Given the description of an element on the screen output the (x, y) to click on. 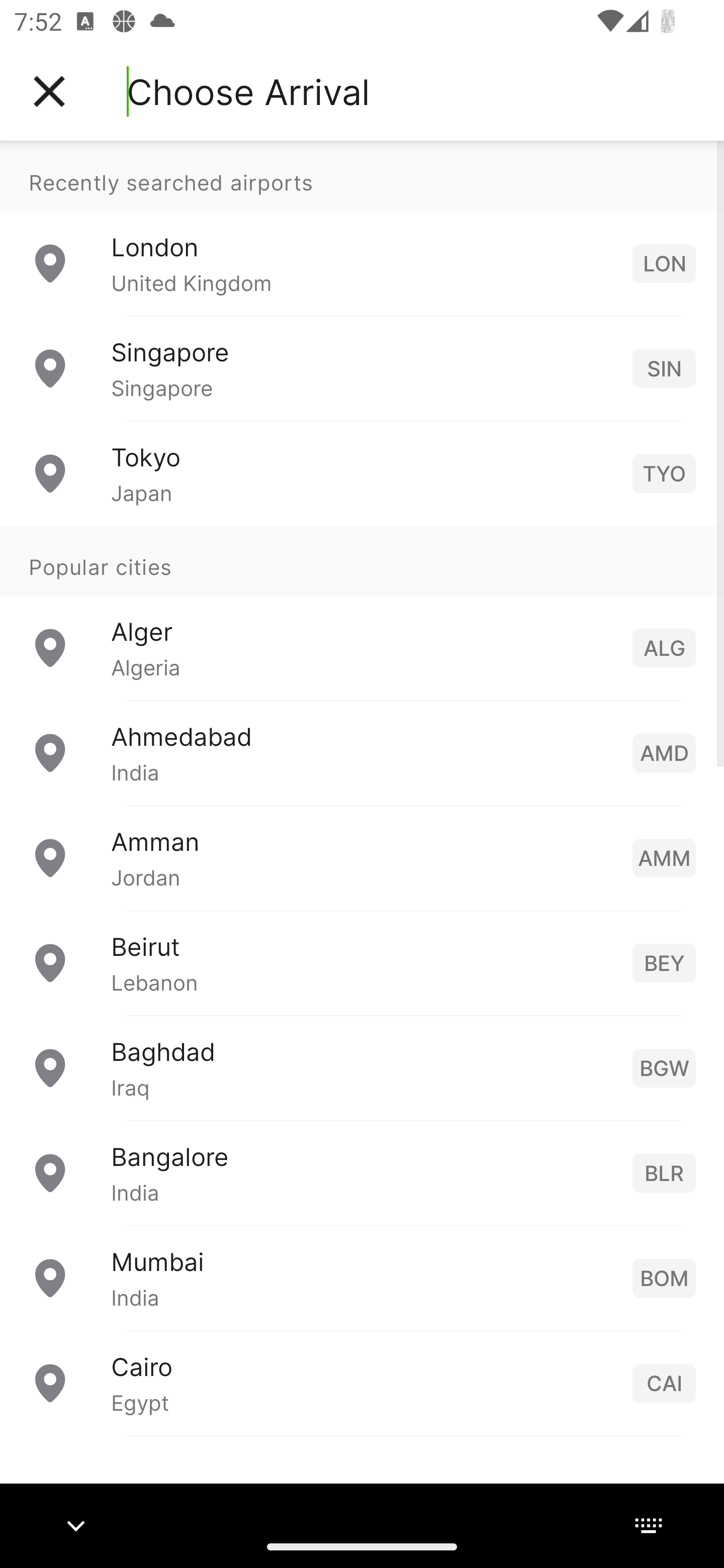
Choose Arrival (247, 91)
Recently searched airports (362, 176)
Singapore Singapore SIN (362, 367)
Tokyo Japan TYO (362, 472)
Popular cities Alger Algeria ALG (362, 612)
Popular cities (362, 560)
Ahmedabad India AMD (362, 751)
Amman Jordan AMM (362, 856)
Beirut Lebanon BEY (362, 961)
Baghdad Iraq BGW (362, 1066)
Bangalore India BLR (362, 1171)
Mumbai India BOM (362, 1276)
Cairo Egypt CAI (362, 1381)
